Given the description of an element on the screen output the (x, y) to click on. 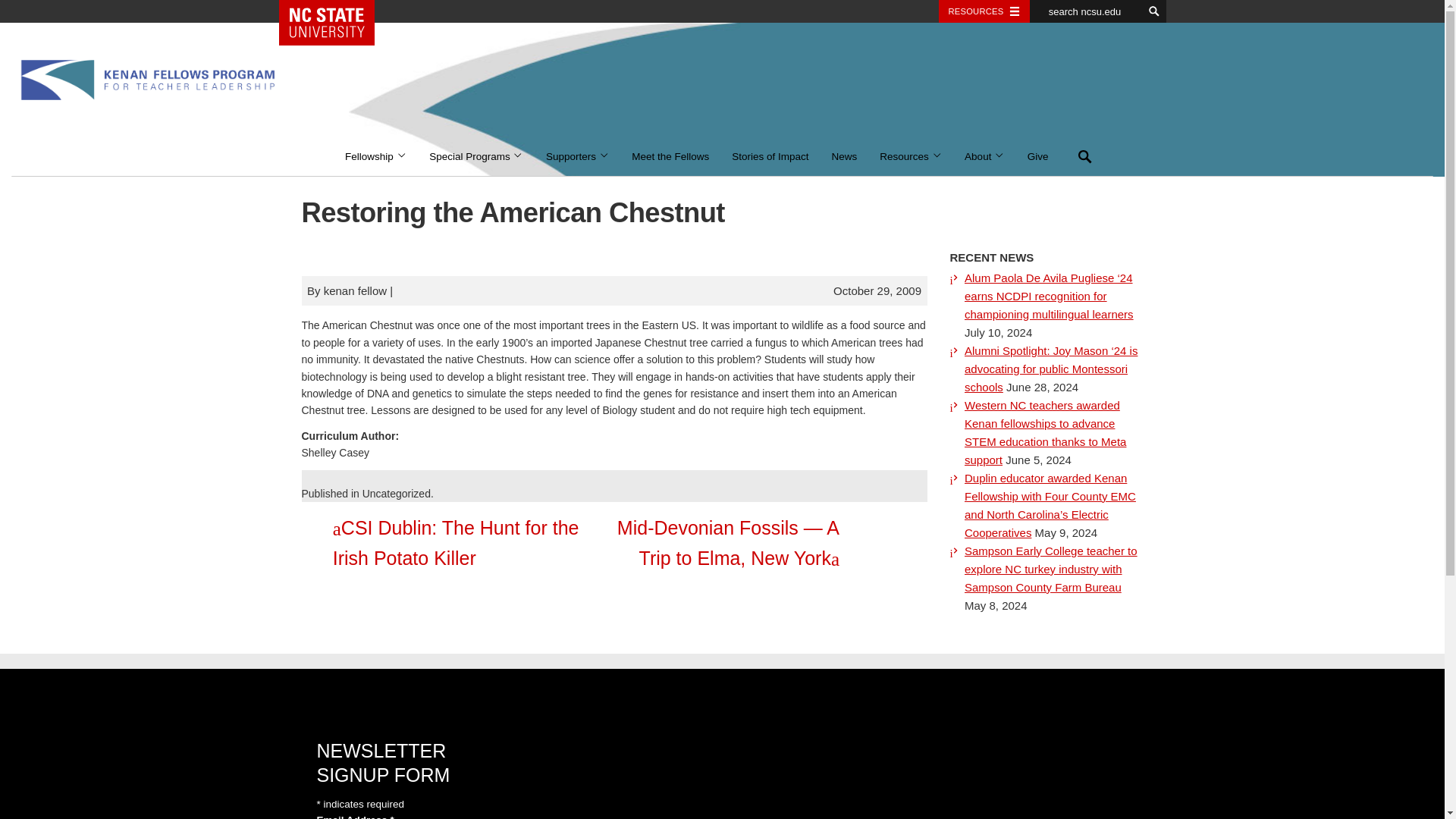
Fellowship (375, 157)
search (1154, 11)
Special Programs (475, 157)
RESOURCES (984, 11)
search (1154, 11)
NC State Home (332, 22)
search (1154, 11)
